Given the description of an element on the screen output the (x, y) to click on. 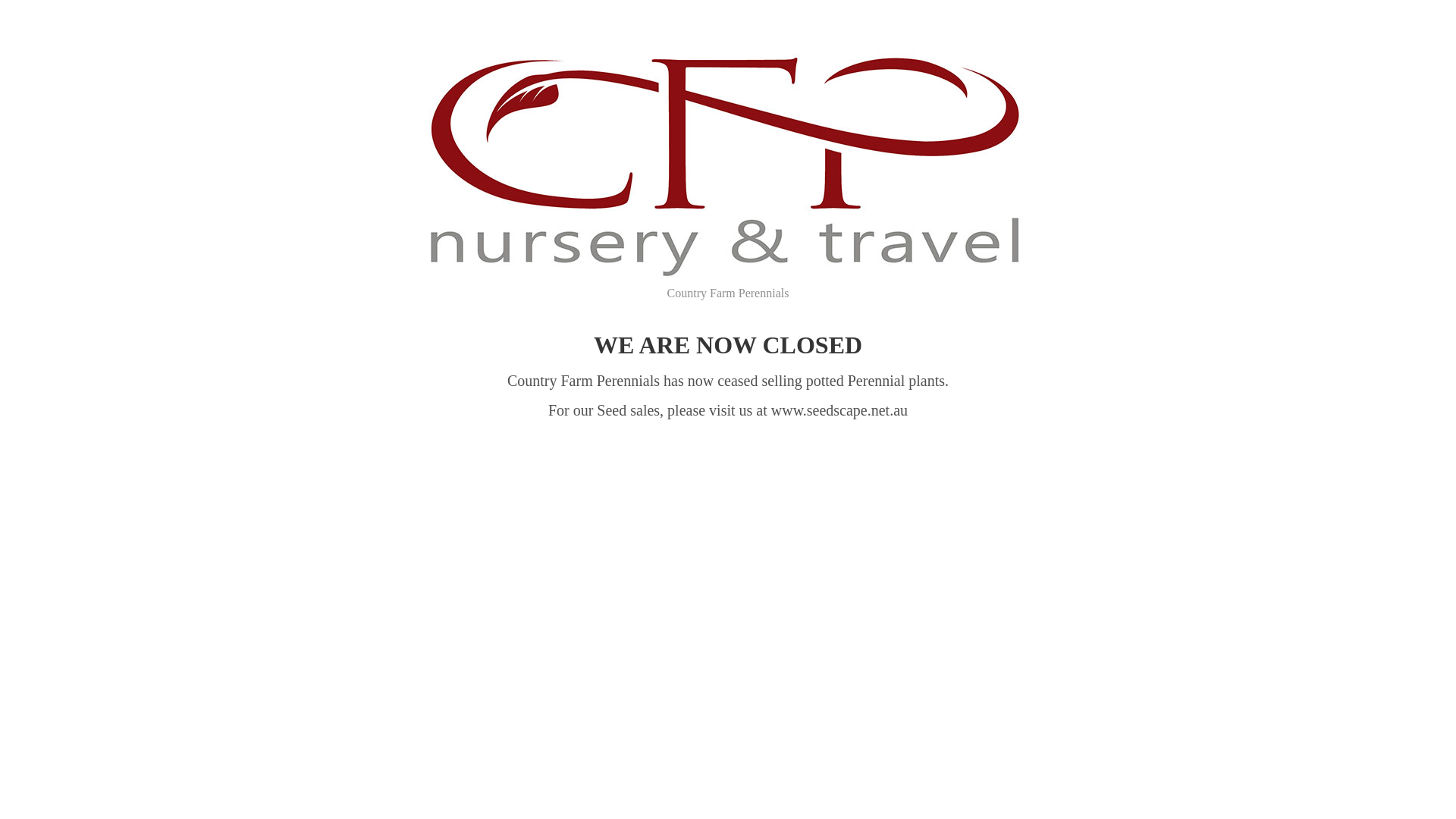
Country Farm Perennials Element type: text (727, 177)
